Given the description of an element on the screen output the (x, y) to click on. 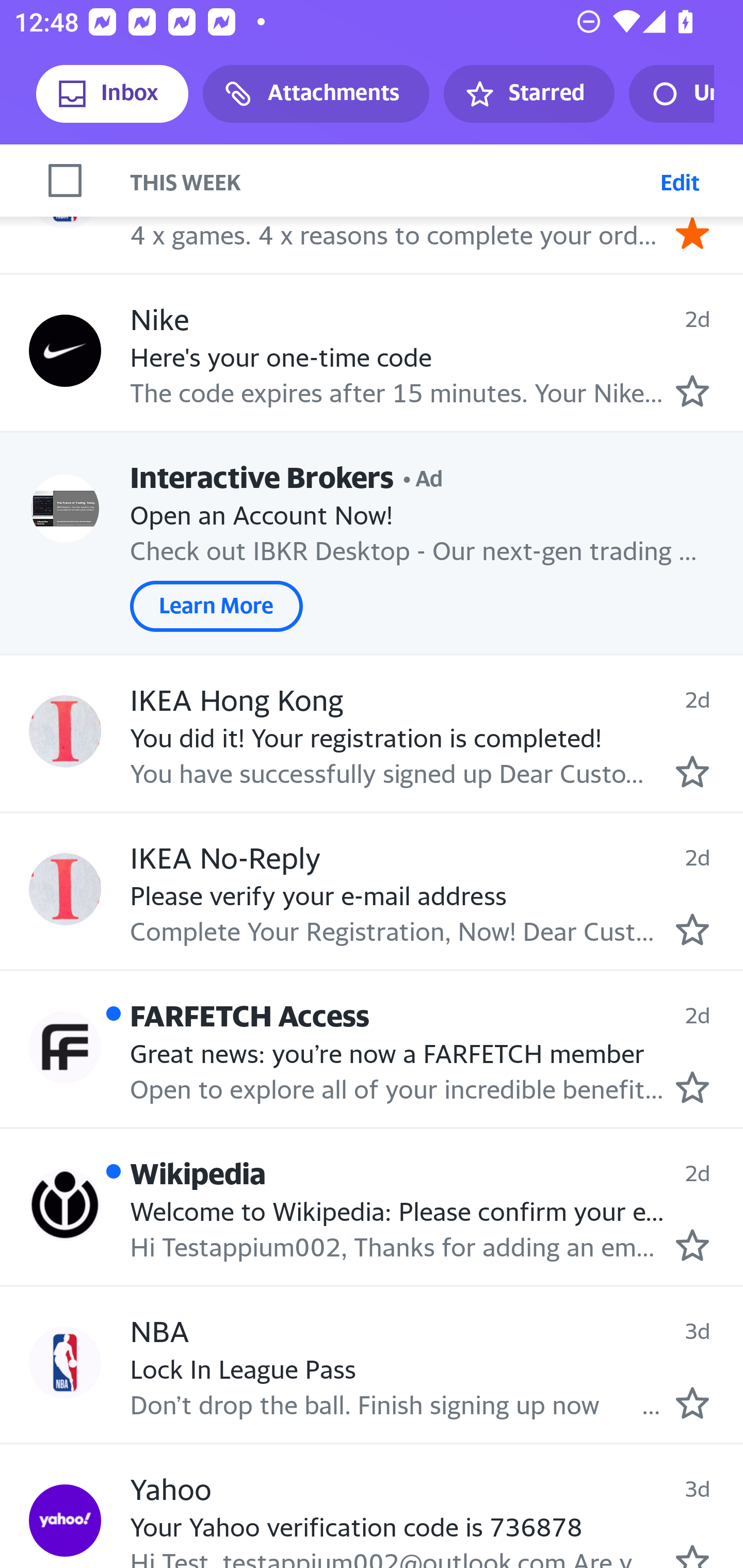
Attachments (315, 93)
Starred (528, 93)
Profile
NBA (64, 192)
Remove star. (692, 232)
Profile
Nike (64, 351)
Mark as starred. (692, 391)
Profile
IKEA Hong Kong (64, 730)
Mark as starred. (692, 772)
Profile
IKEA No-Reply (64, 888)
Mark as starred. (692, 929)
Profile
FARFETCH Access (64, 1047)
Mark as starred. (692, 1087)
Profile
Wikipedia (64, 1204)
Mark as starred. (692, 1245)
Profile
NBA (64, 1362)
Mark as starred. (692, 1402)
Profile
Yahoo (64, 1520)
Mark as starred. (692, 1555)
